Given the description of an element on the screen output the (x, y) to click on. 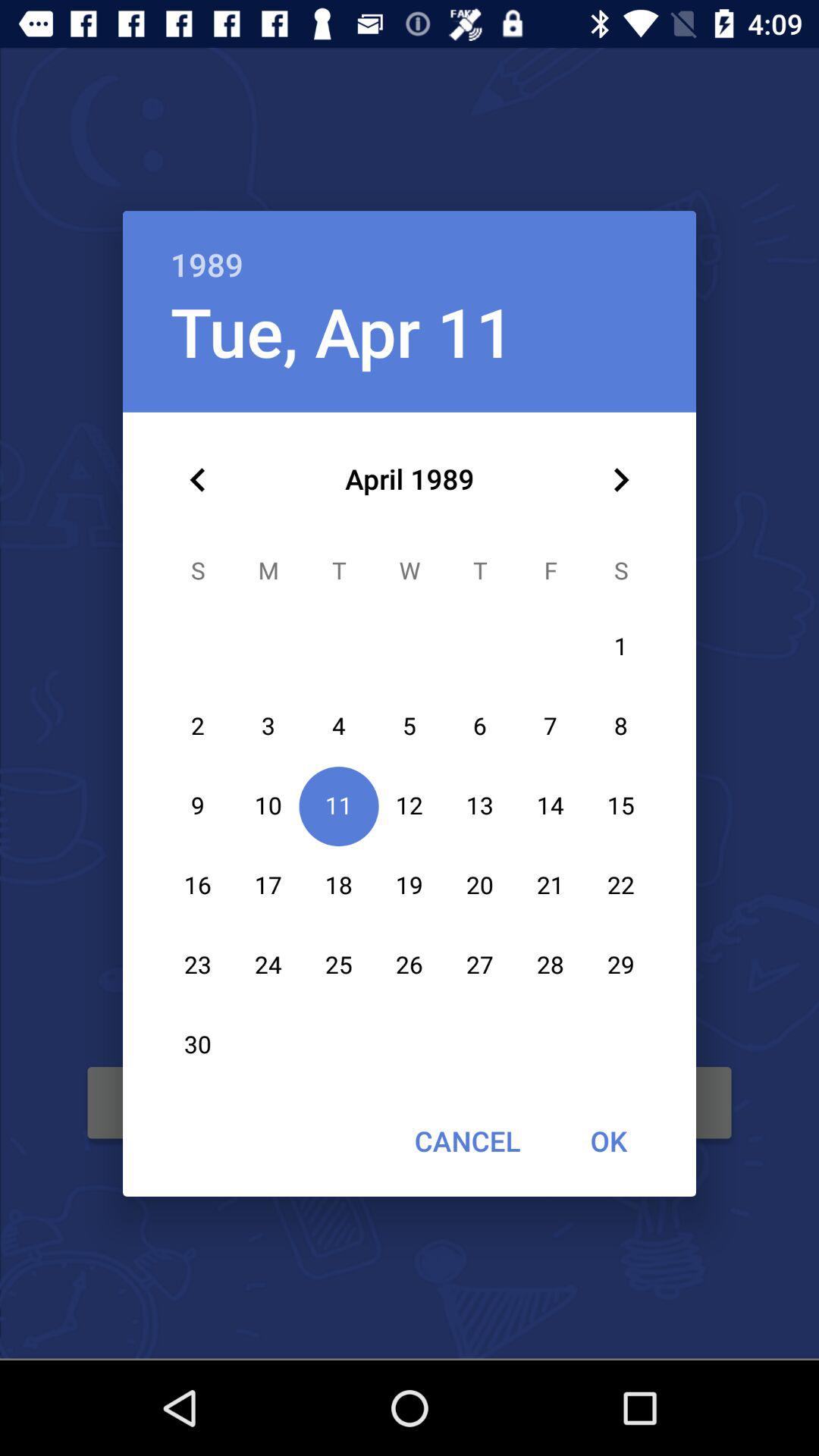
click the item next to the ok icon (467, 1140)
